Given the description of an element on the screen output the (x, y) to click on. 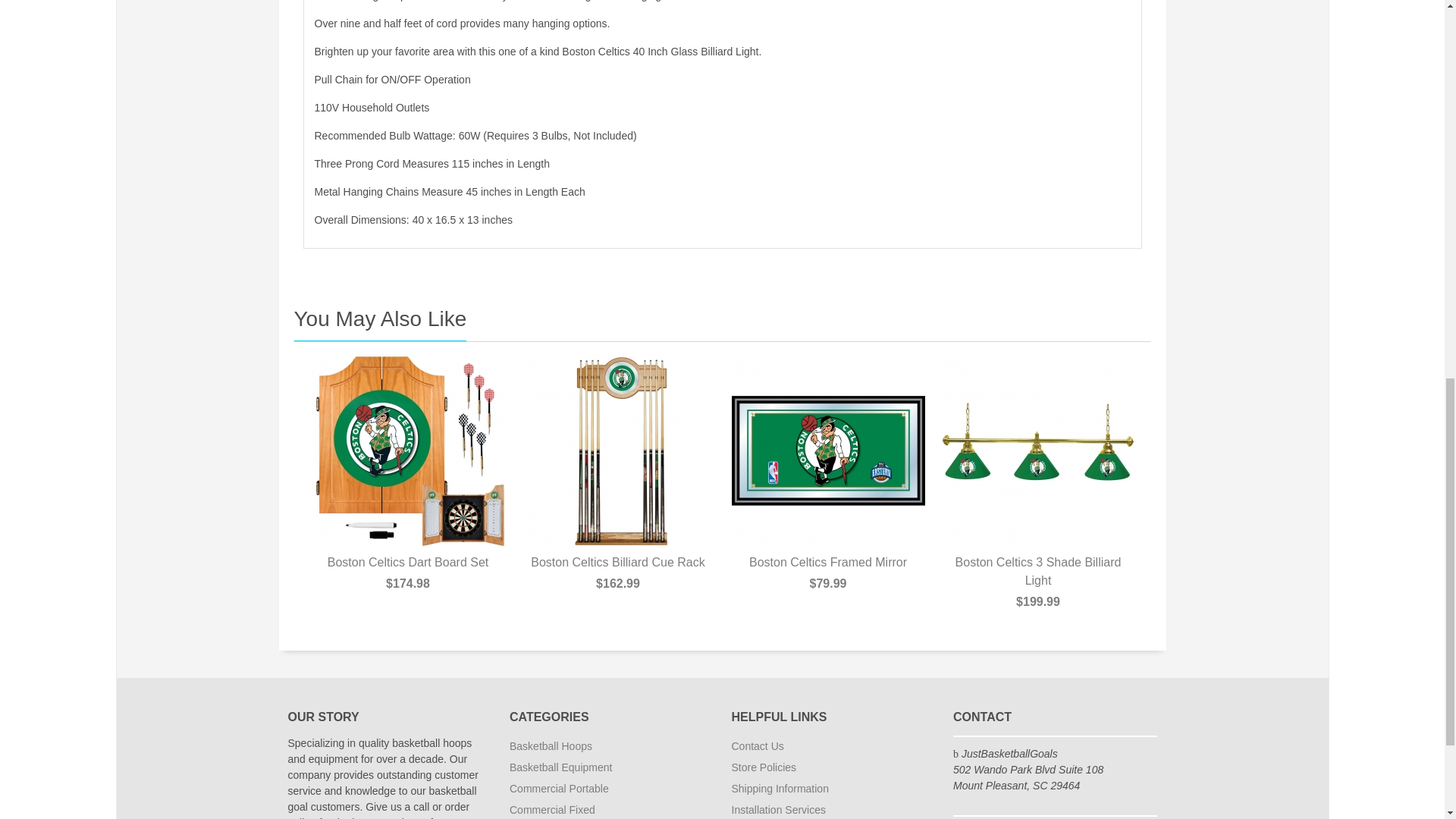
Boston Celtics Dart Board Set (407, 450)
Boston Celtics Billiard Cue Rack (617, 450)
Boston Celtics 3 Shade Billiard Light (1038, 450)
Boston Celtics Framed Mirror (827, 450)
